Given the description of an element on the screen output the (x, y) to click on. 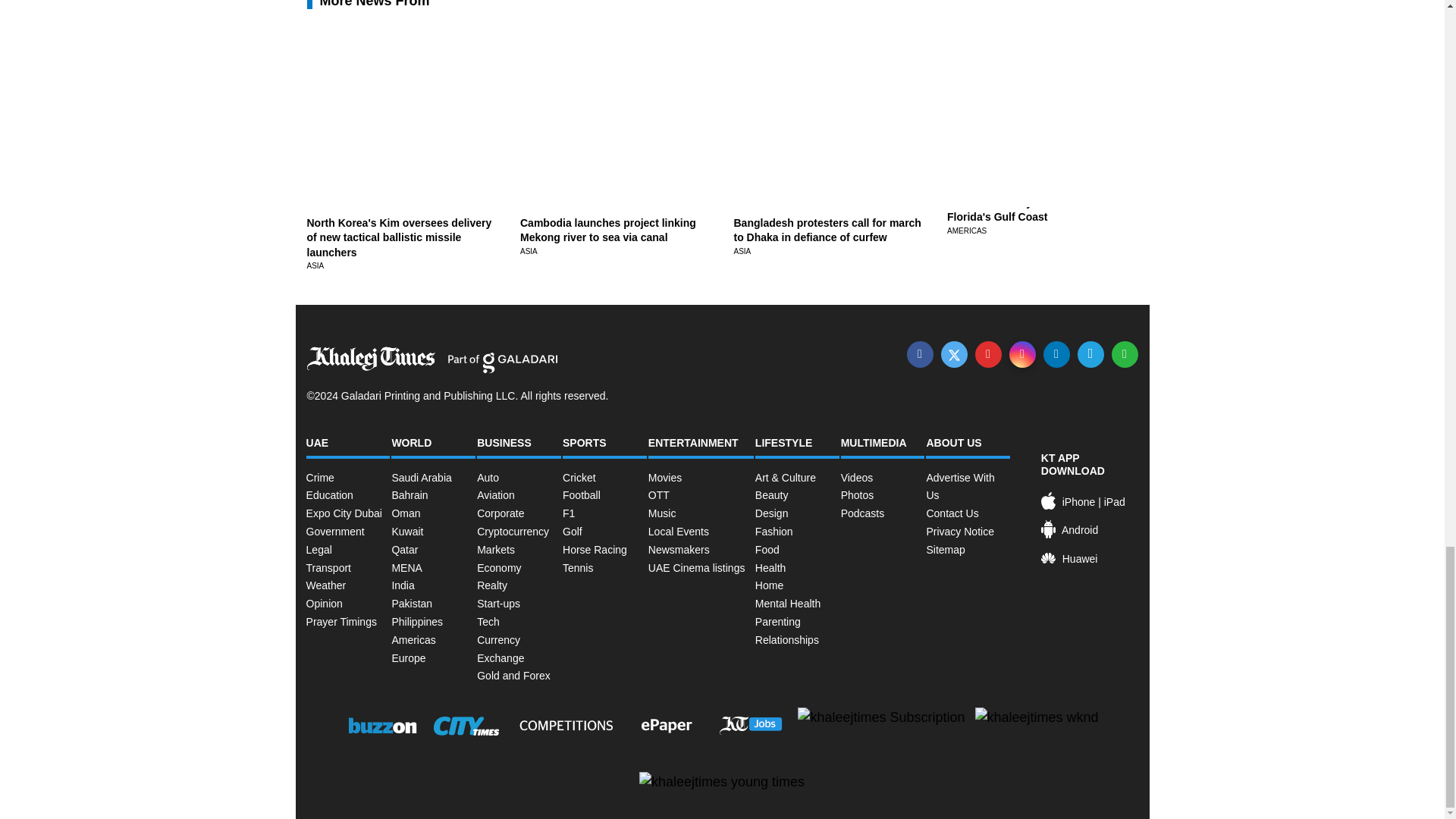
Meet the entrepreneur bringing fashion in technology (812, 37)
In France for the Olympics? Check out Lyon  (607, 177)
GCC, Indonesia launches free trade agreement talks (823, 177)
